Given the description of an element on the screen output the (x, y) to click on. 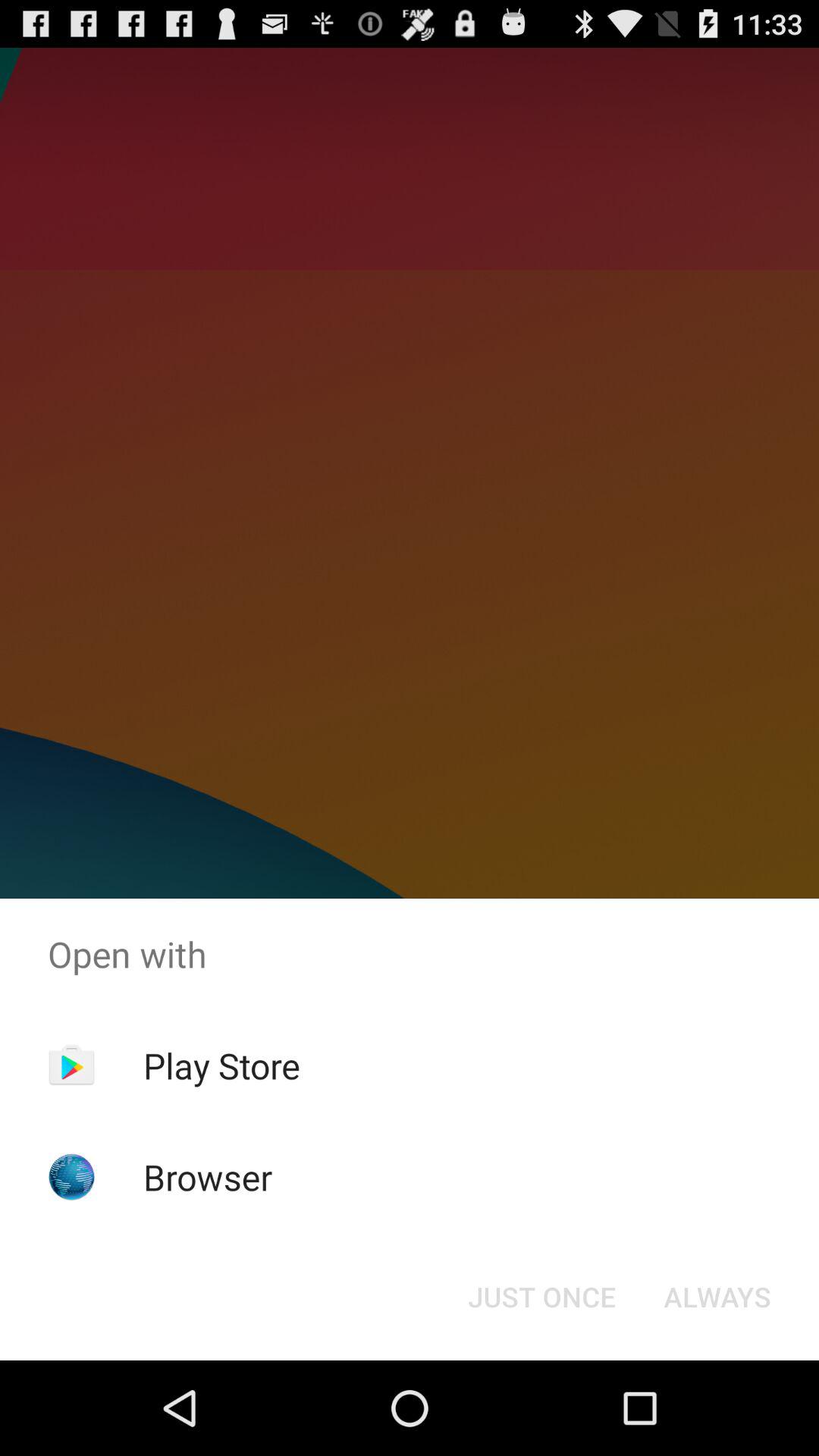
tap the item below open with app (221, 1065)
